Given the description of an element on the screen output the (x, y) to click on. 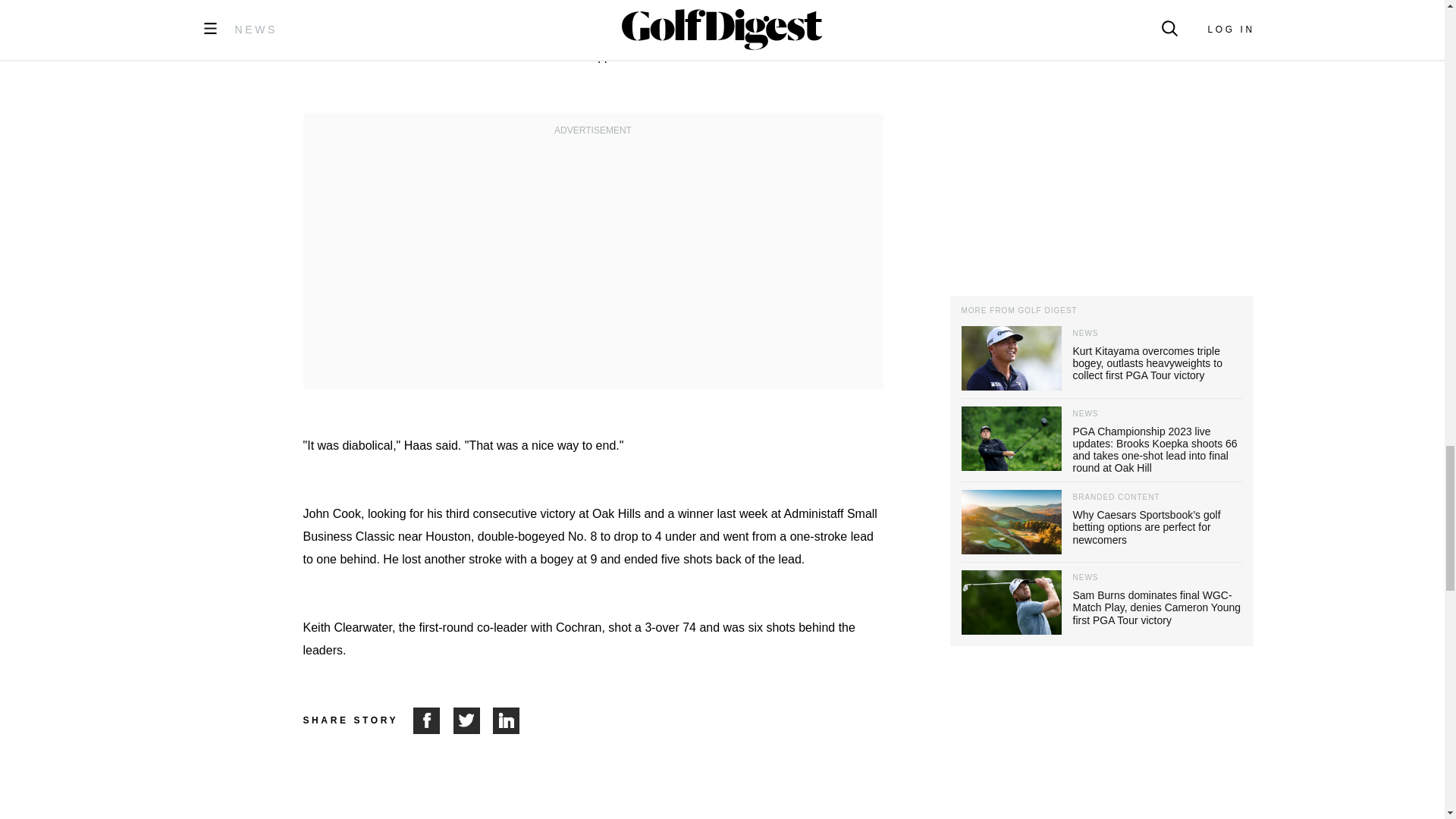
Share on LinkedIn (506, 720)
Share on Twitter (472, 720)
Share on Facebook (432, 720)
